Given the description of an element on the screen output the (x, y) to click on. 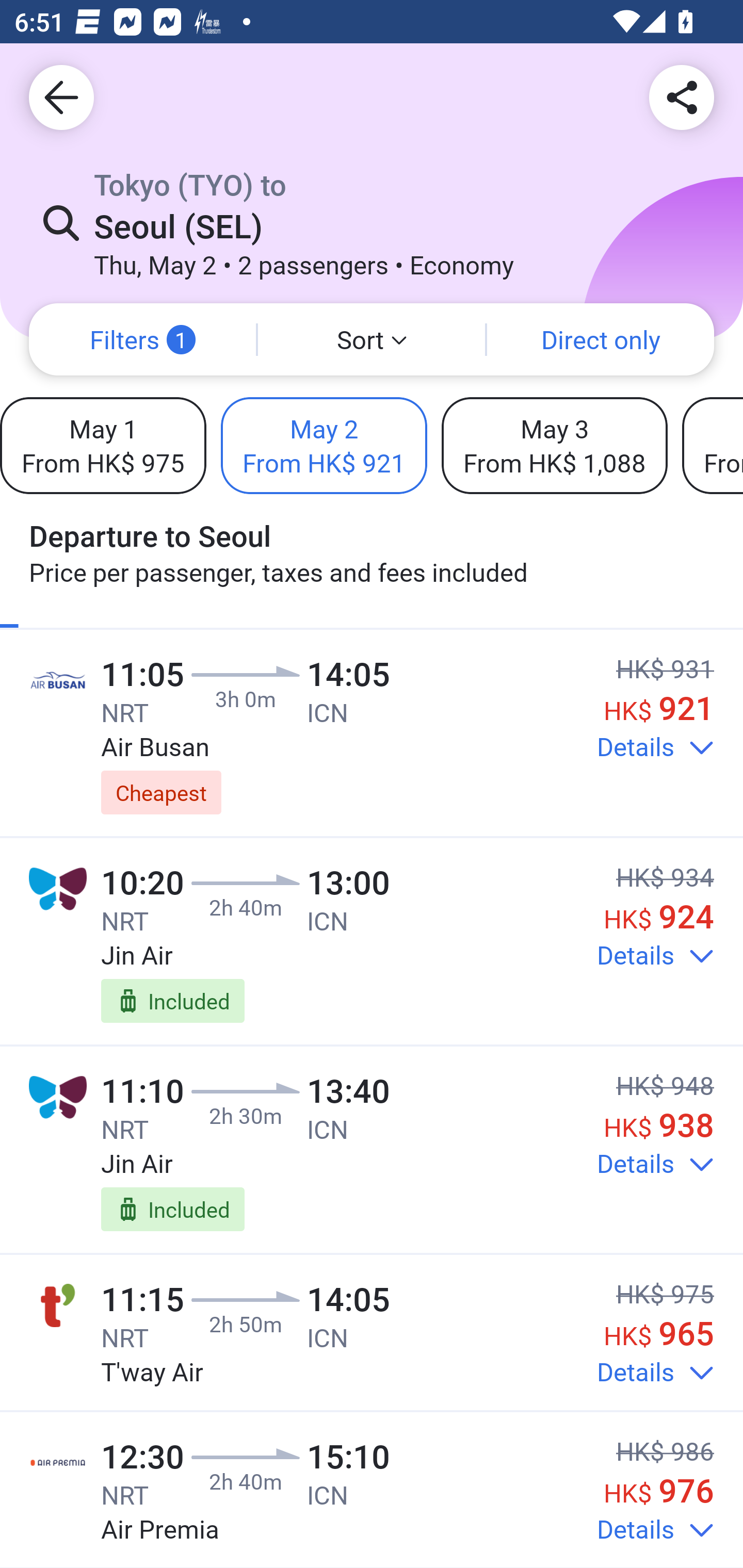
Filters 1 (141, 339)
Sort (371, 339)
Direct only (600, 339)
May 1 From HK$ 975 (103, 444)
May 2 From HK$ 921 (323, 444)
May 3 From HK$ 1,088 (554, 444)
